Given the description of an element on the screen output the (x, y) to click on. 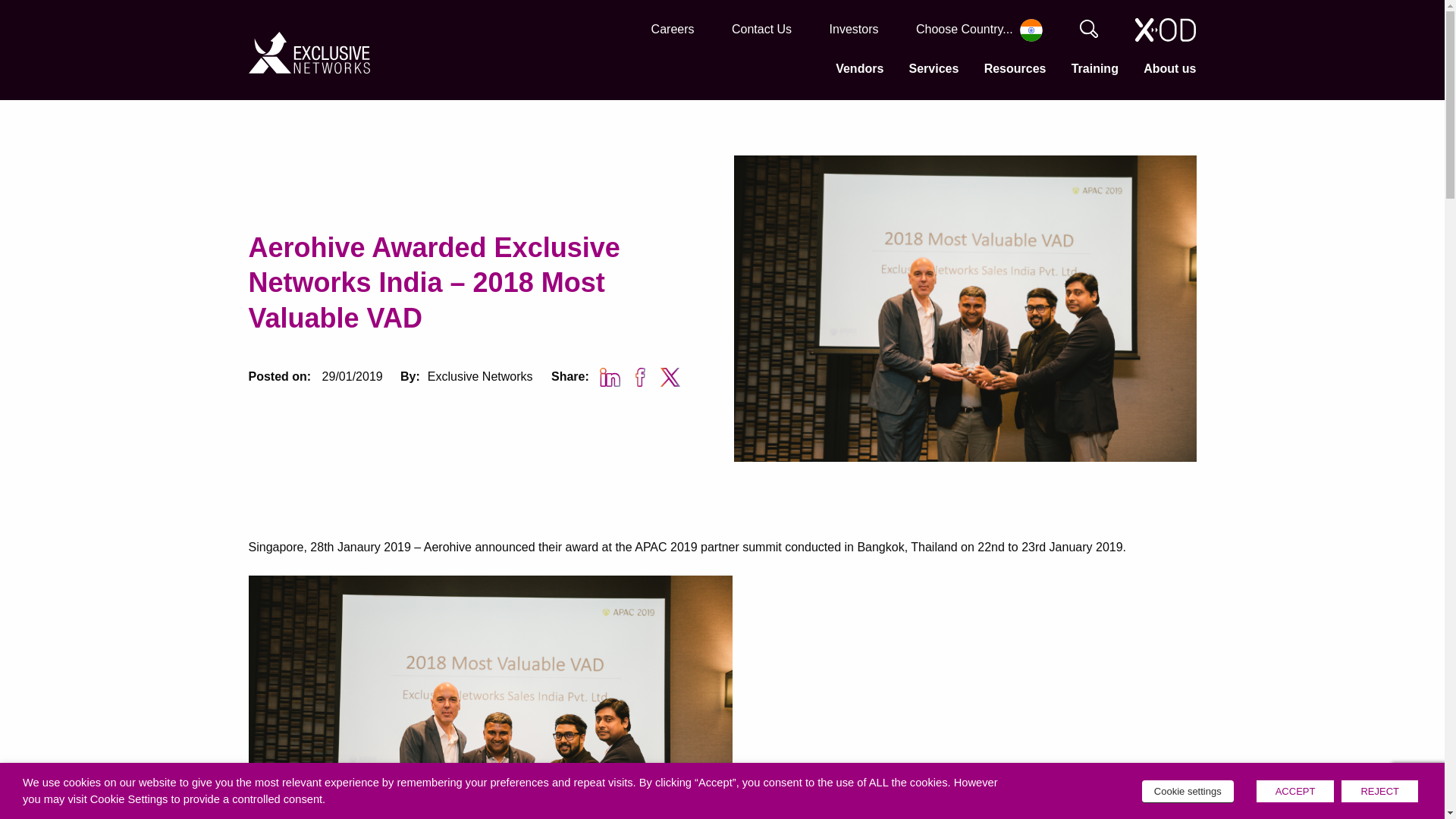
Careers (672, 29)
Contact Us (762, 29)
Investors (854, 29)
